Given the description of an element on the screen output the (x, y) to click on. 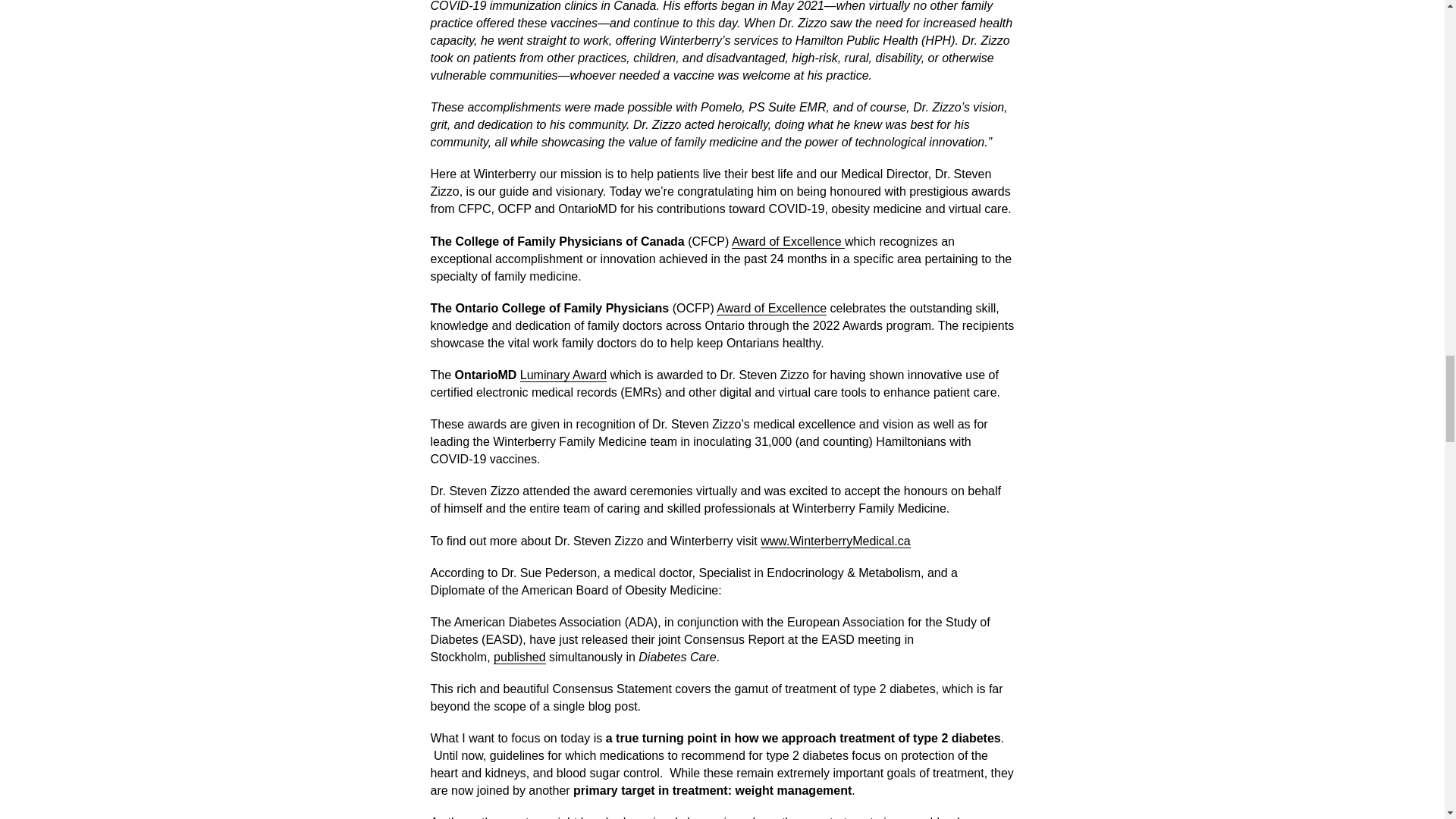
published (519, 657)
Award of Excellence (771, 308)
Award of Excellence (788, 241)
Luminary Award (563, 375)
www.WinterberryMedical.ca (835, 540)
